Given the description of an element on the screen output the (x, y) to click on. 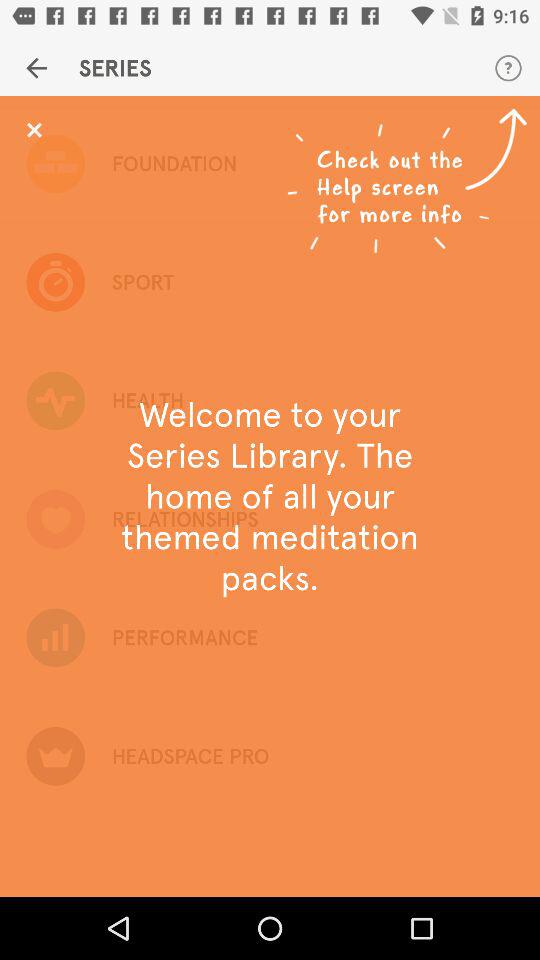
close (33, 129)
